Given the description of an element on the screen output the (x, y) to click on. 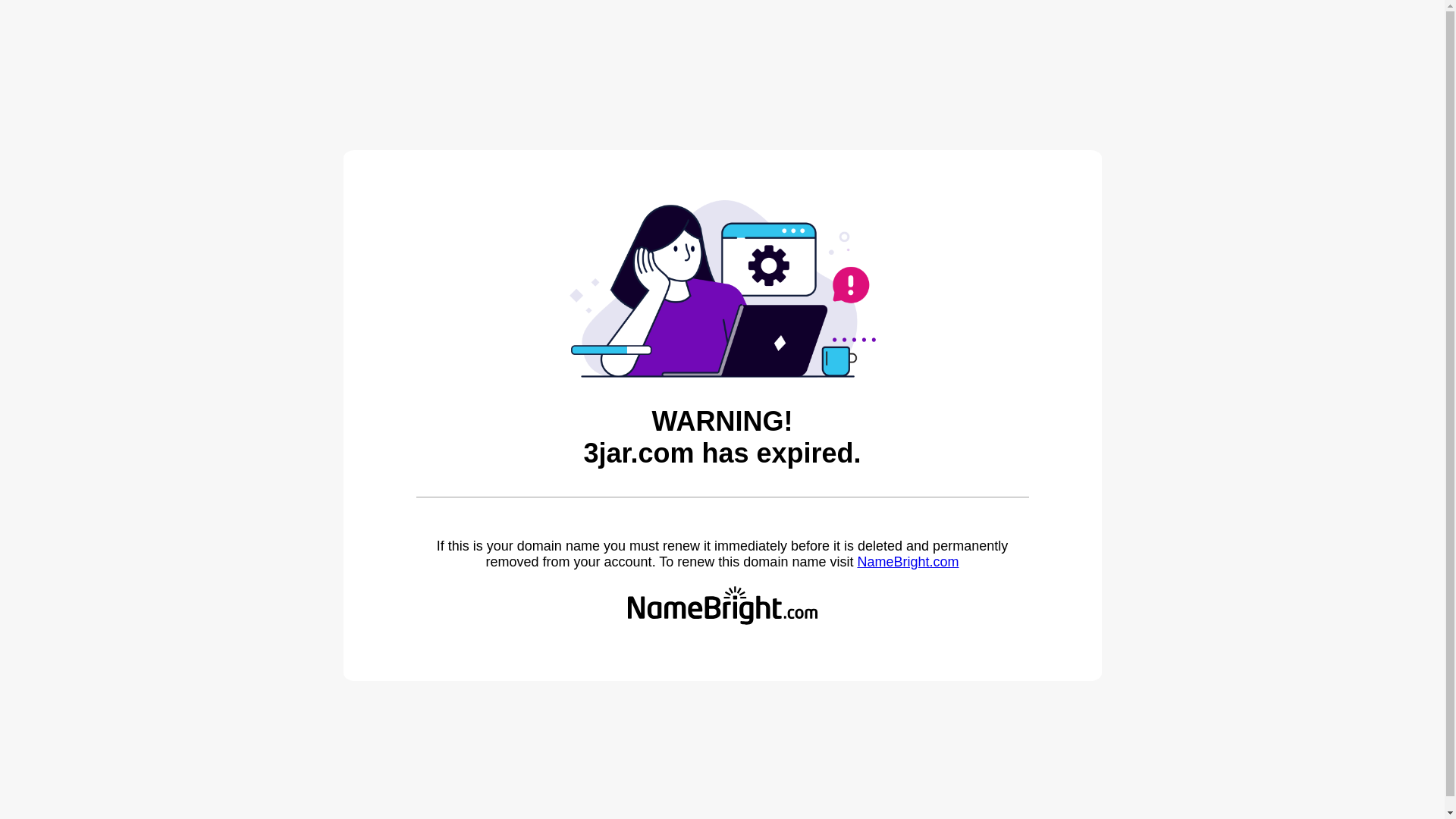
NameBright.com Element type: text (907, 561)
